Given the description of an element on the screen output the (x, y) to click on. 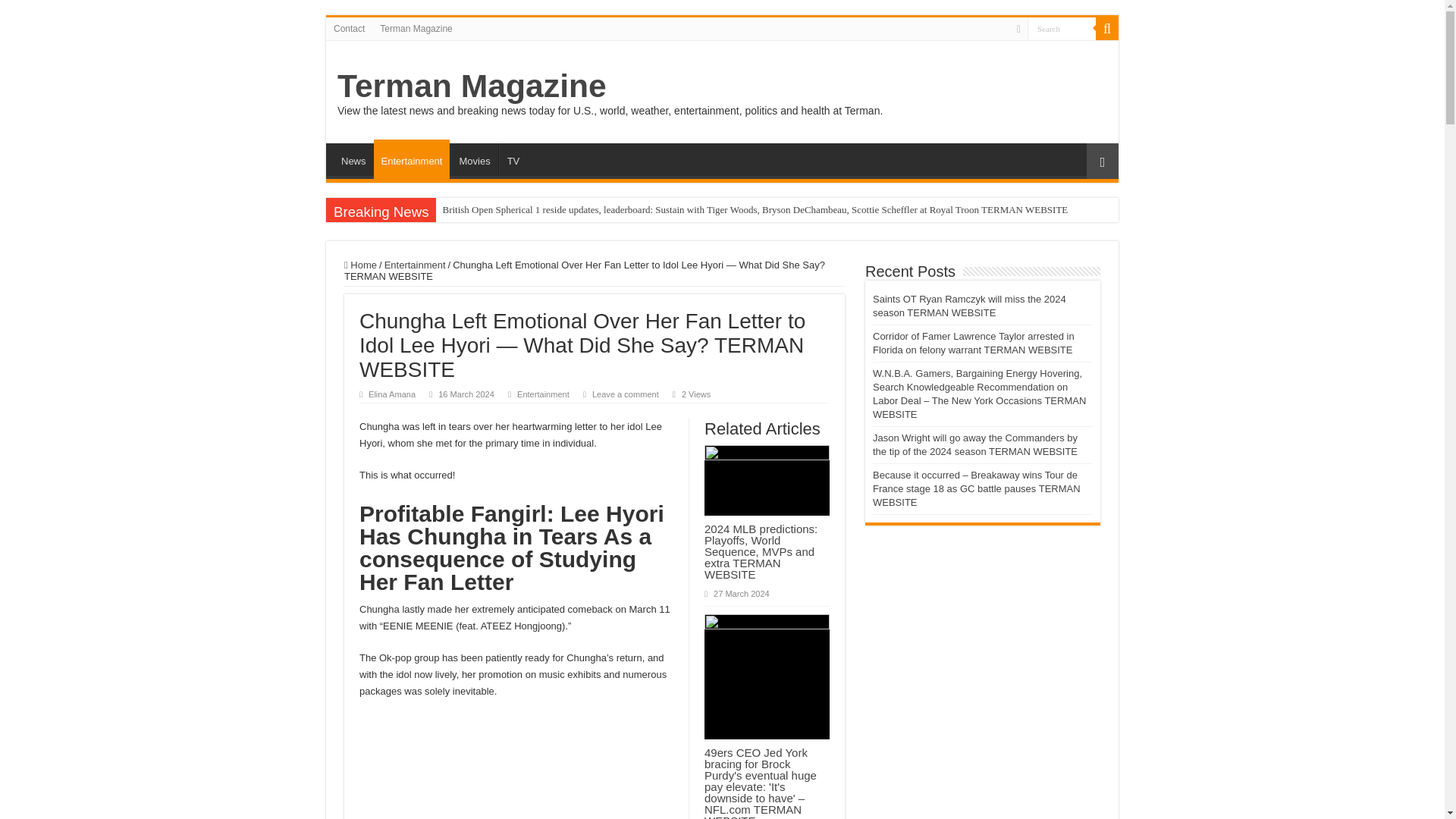
Elina Amana (391, 393)
Leave a comment (625, 393)
Entertainment (542, 393)
Movies (473, 159)
Terman Magazine (472, 85)
Search (1061, 28)
Terman Magazine (416, 28)
Entertainment (411, 159)
Home (360, 265)
Search (1061, 28)
Search (1061, 28)
TV (513, 159)
